Given the description of an element on the screen output the (x, y) to click on. 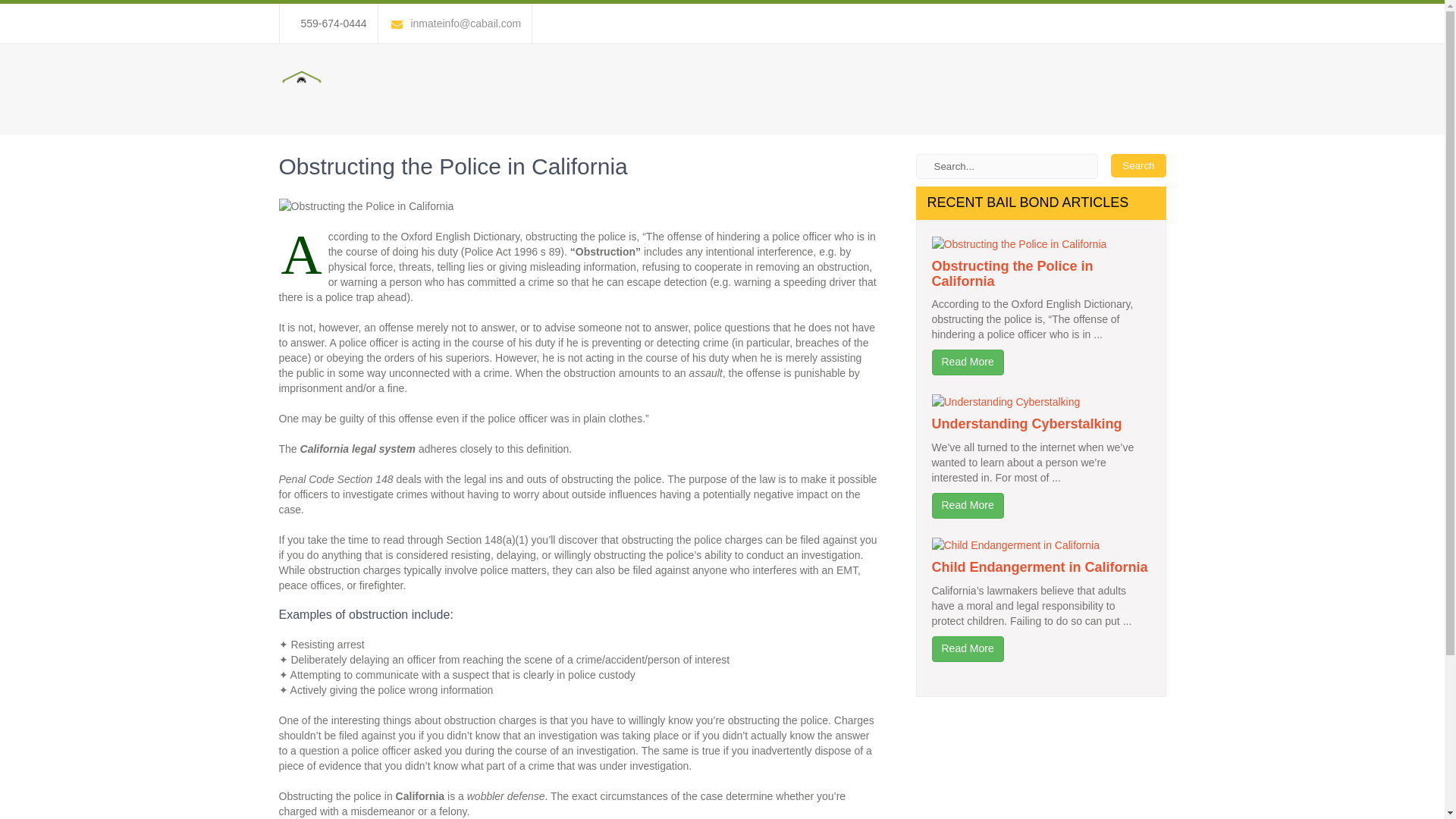
Search (1138, 165)
Read More (967, 505)
Understanding Cyberstalking (1026, 423)
Child Endangerment in California (1039, 566)
Read More (967, 362)
Read More (967, 648)
Search (1138, 165)
Search (1138, 165)
Obstructing the Police in California (1012, 273)
